Given the description of an element on the screen output the (x, y) to click on. 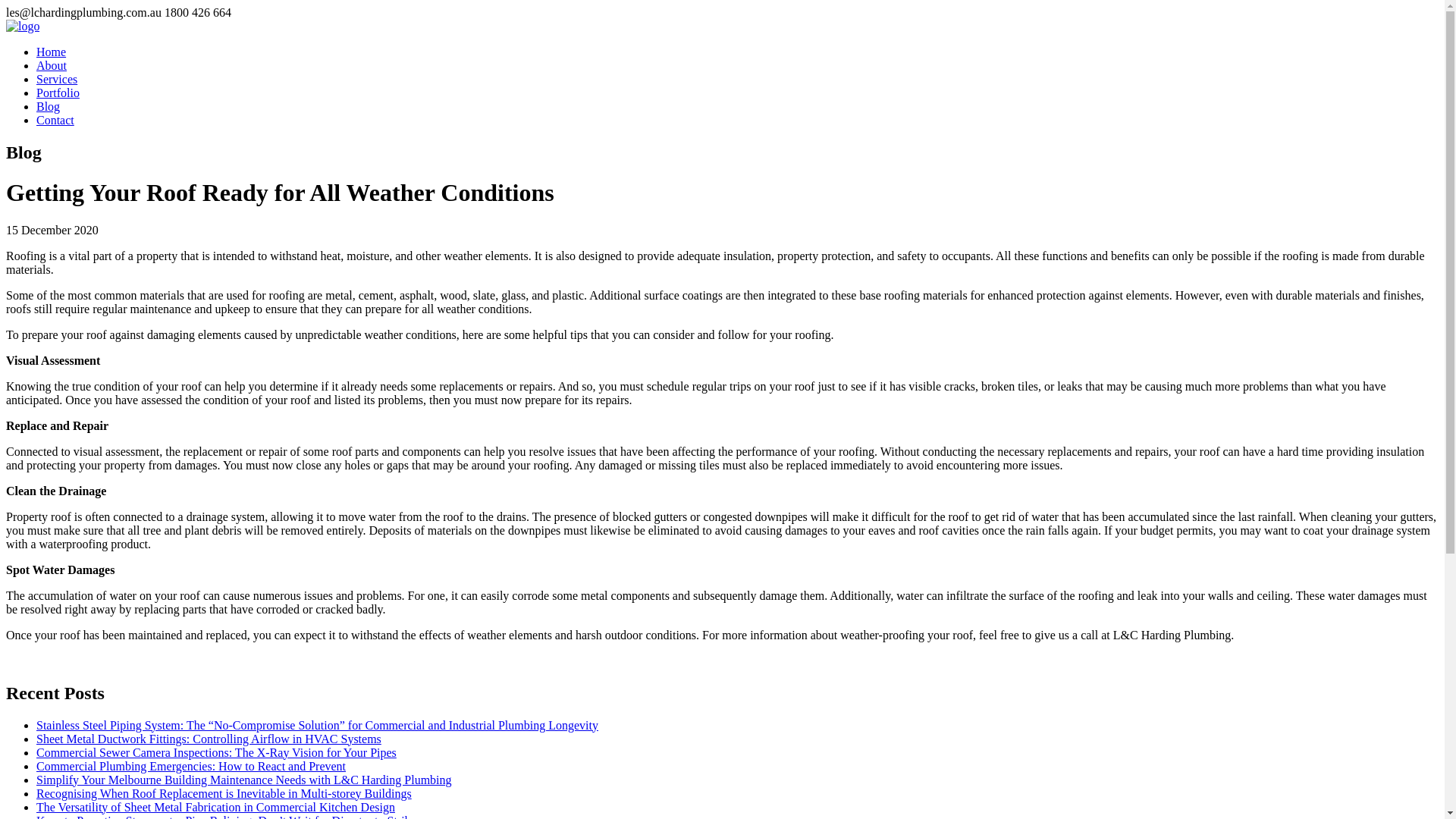
Blog (47, 106)
Contact (55, 119)
Home (50, 51)
Portfolio (58, 92)
Commercial Plumbing Emergencies: How to React and Prevent (191, 766)
Services (56, 78)
About (51, 65)
